Given the description of an element on the screen output the (x, y) to click on. 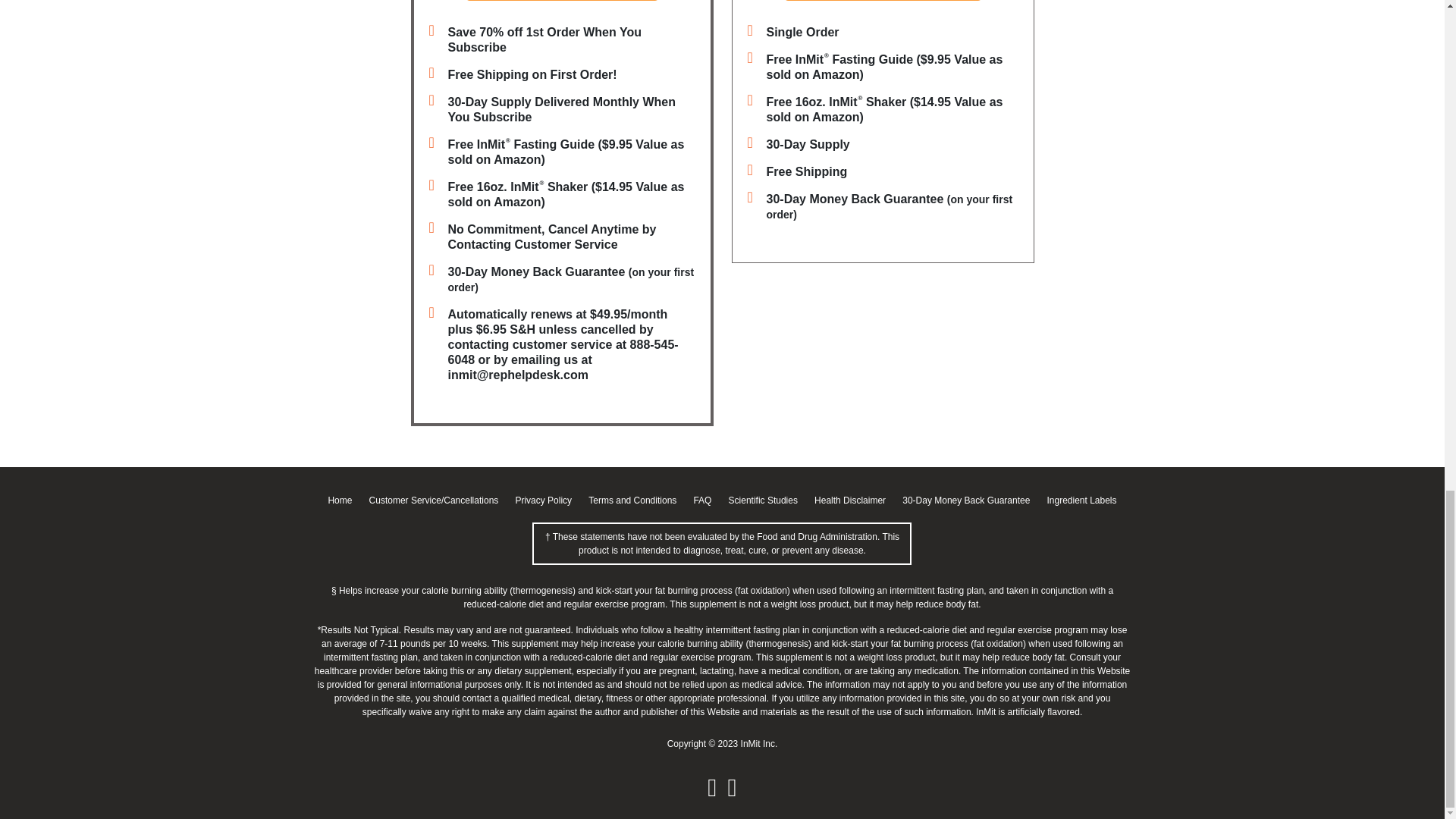
30-Day Money Back Guarantee (965, 500)
Terms and Conditions (632, 500)
Ingredient Labels (1081, 500)
Privacy Policy (543, 500)
FAQ (702, 500)
Scientific Studies (763, 500)
Home (339, 500)
Health Disclaimer (849, 500)
